Given the description of an element on the screen output the (x, y) to click on. 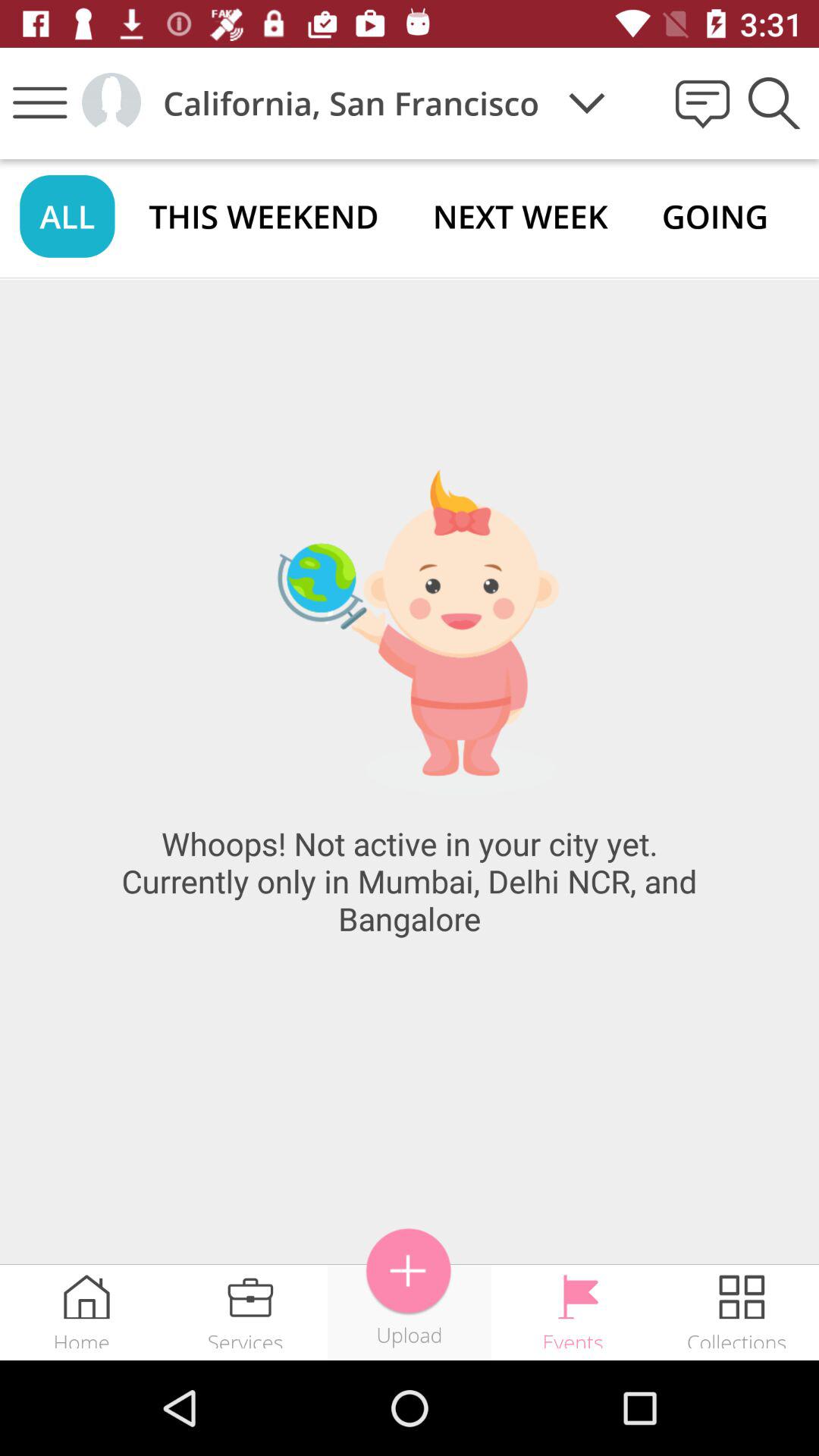
choose all (66, 216)
